Given the description of an element on the screen output the (x, y) to click on. 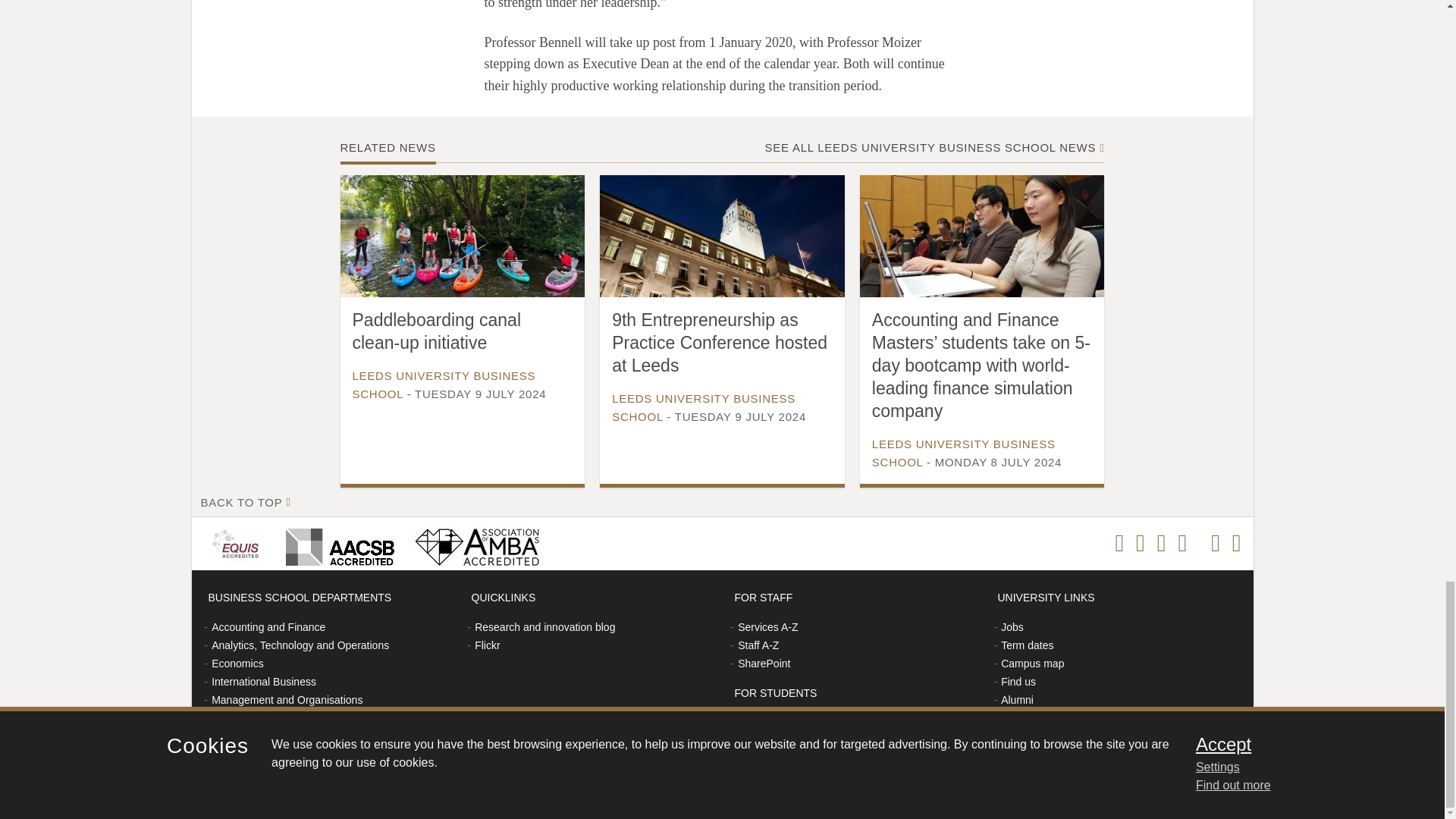
Visit 2-AACSB (337, 543)
Visit 3-AMBA (472, 543)
Visit 1-EFMD (237, 543)
